Given the description of an element on the screen output the (x, y) to click on. 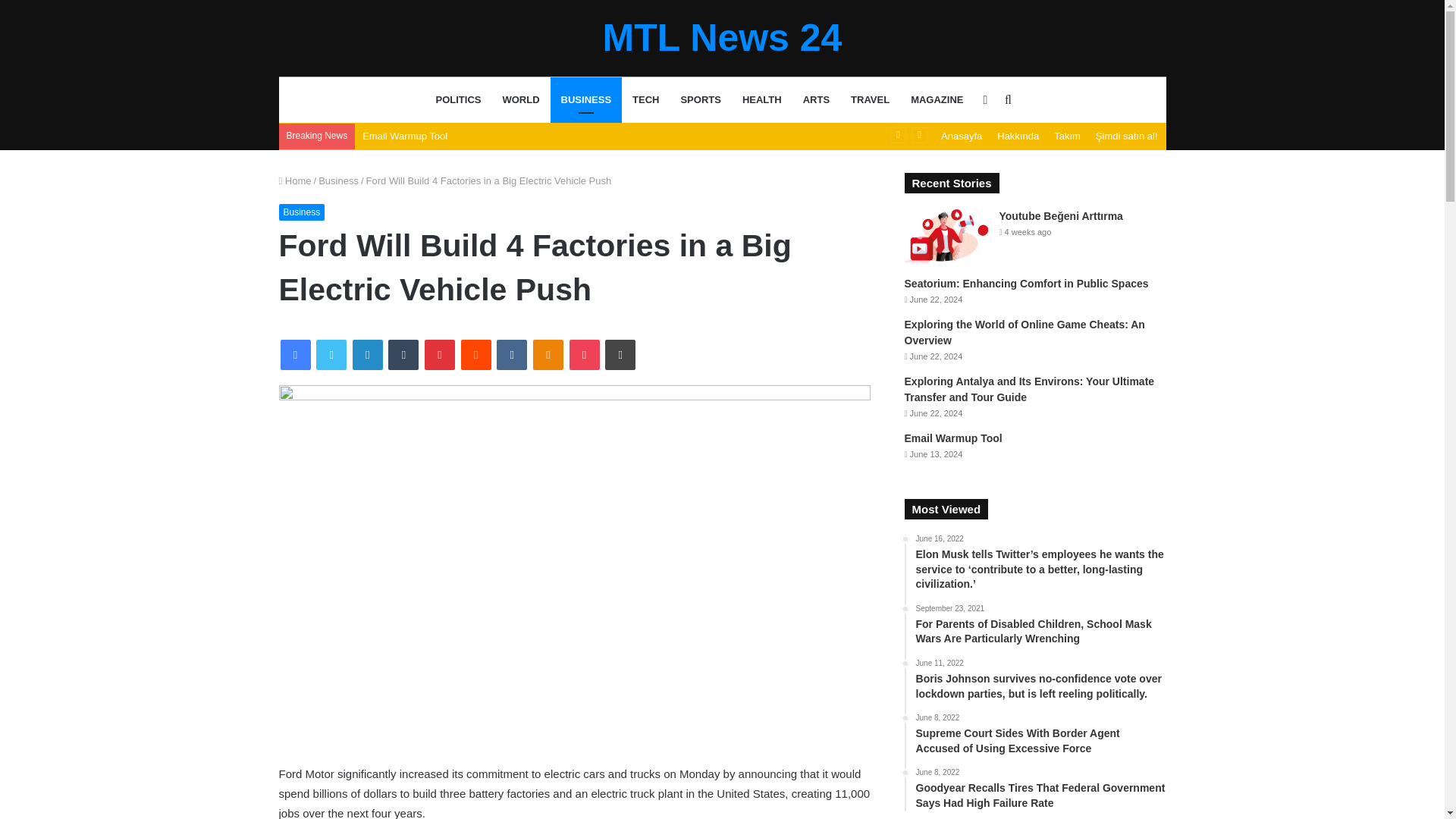
Pocket (583, 354)
Reddit (476, 354)
Home (295, 180)
TECH (645, 99)
Sidebar (984, 99)
HEALTH (762, 99)
Pocket (583, 354)
Odnoklassniki (547, 354)
MTL News 24 (722, 37)
Business (338, 180)
LinkedIn (367, 354)
Email Warmup Tool (404, 135)
Search for (1007, 99)
Tumblr (403, 354)
Twitter (330, 354)
